Given the description of an element on the screen output the (x, y) to click on. 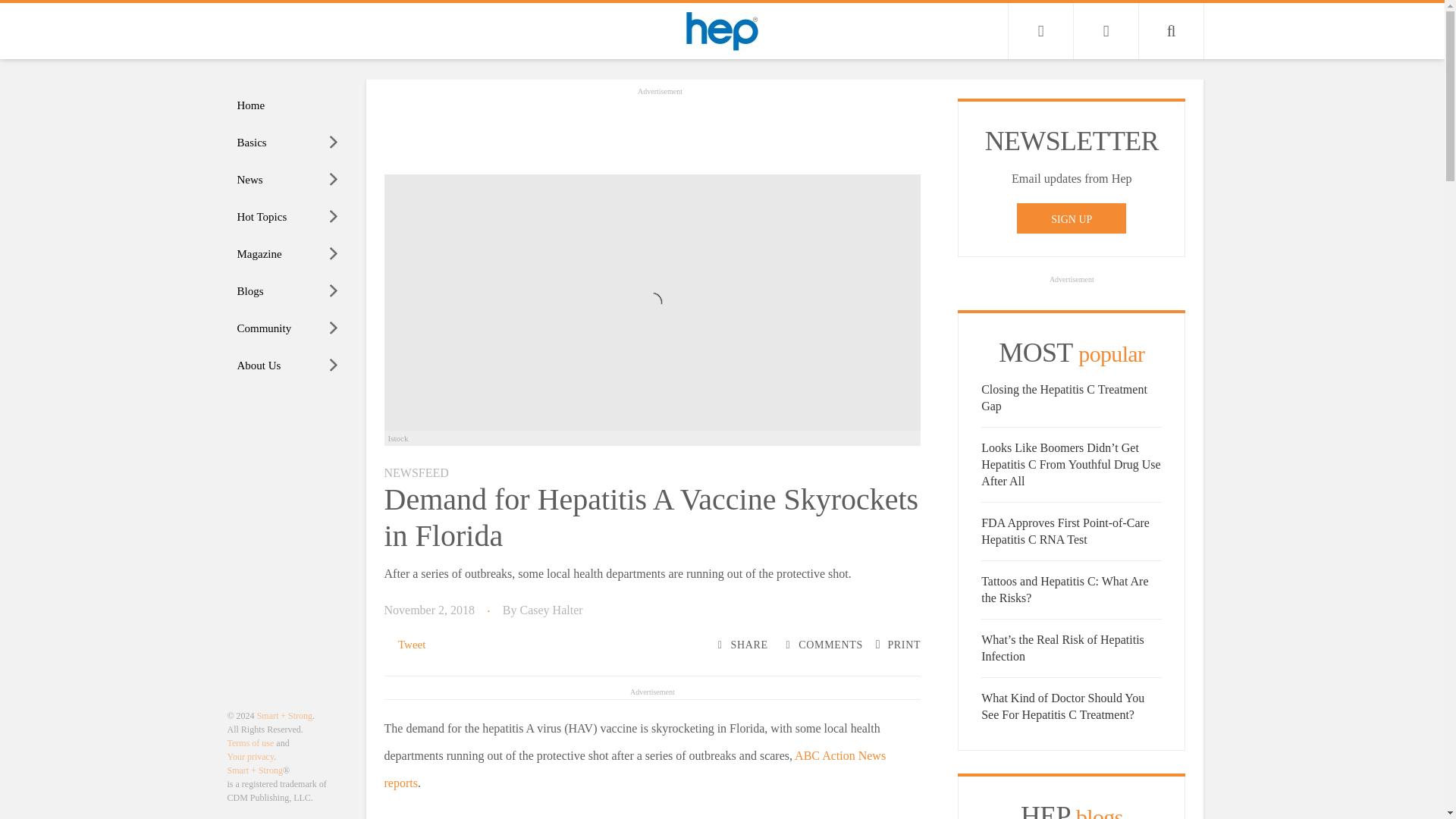
Basics (288, 142)
Hot Topics (288, 217)
News (288, 180)
Home (288, 105)
